Given the description of an element on the screen output the (x, y) to click on. 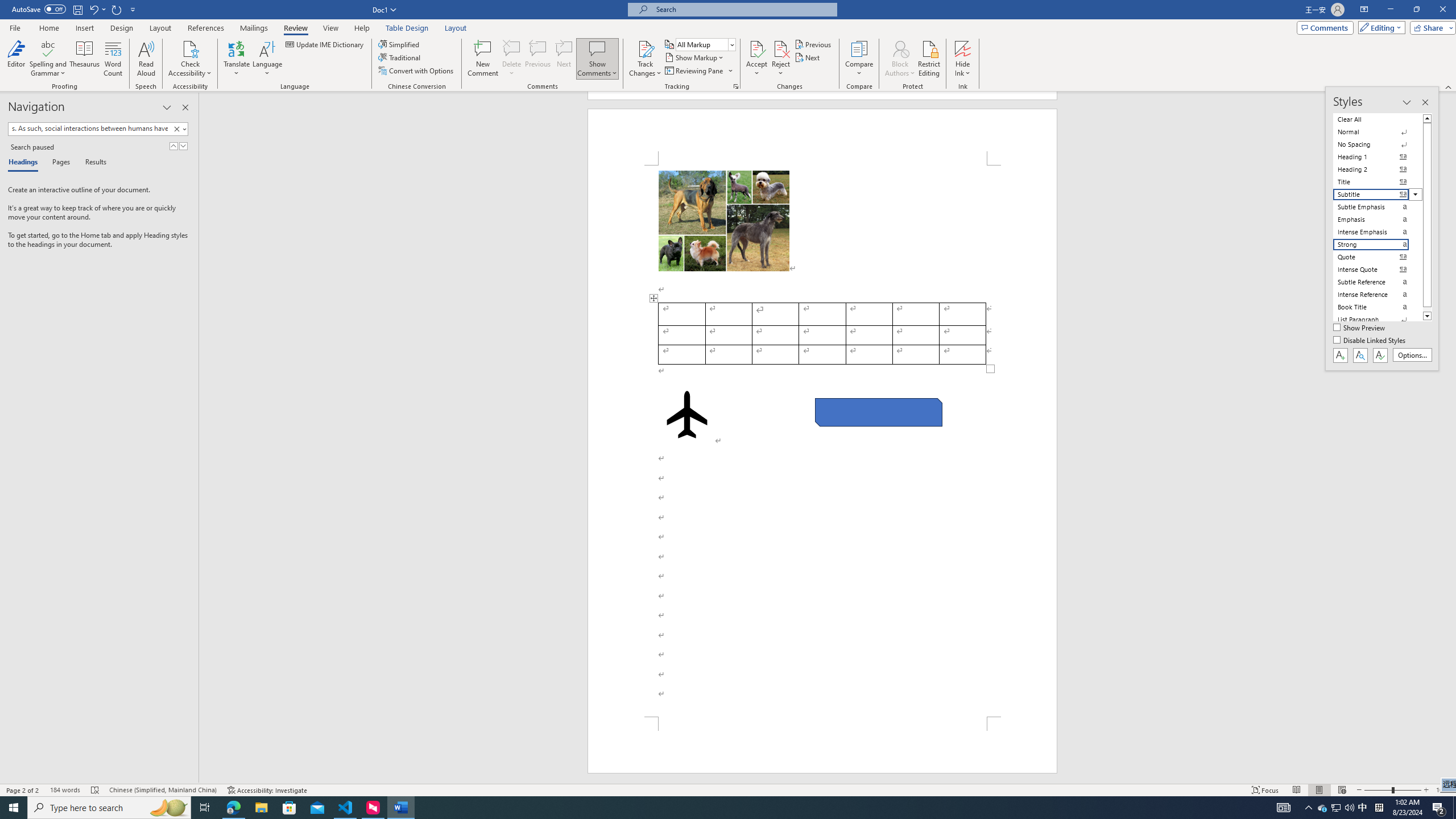
Quote (1377, 256)
Show Comments (597, 48)
Display for Review (705, 44)
Track Changes (644, 48)
Word Count (113, 58)
Intense Emphasis (1377, 232)
Clear All (1377, 119)
Show Preview (1360, 328)
